Given the description of an element on the screen output the (x, y) to click on. 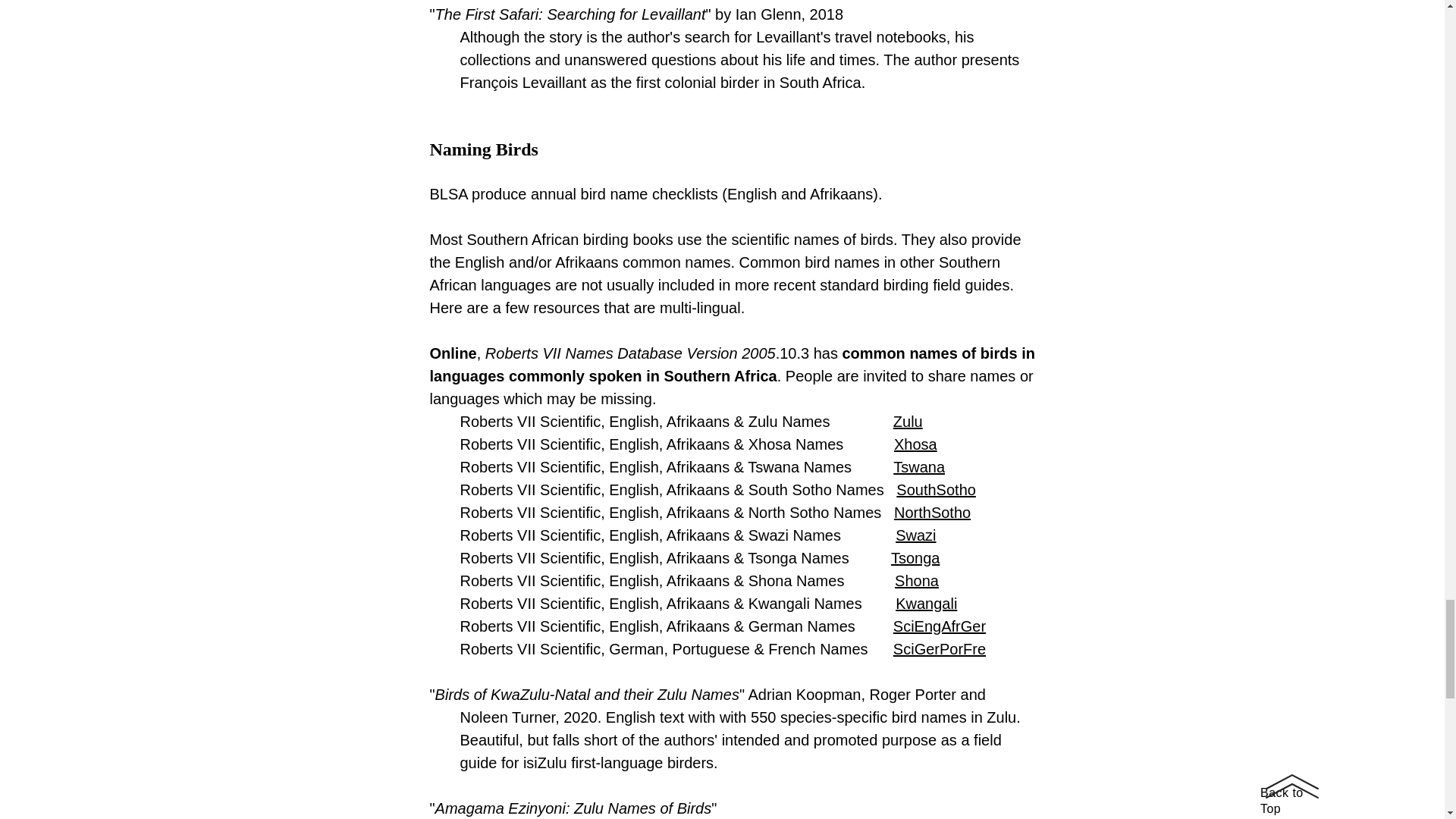
NorthSotho (932, 512)
Xhosa (915, 443)
SciGerPorFre (939, 648)
Tswana (918, 466)
Swazi (915, 535)
SciEngAfrGer (939, 626)
Shona (917, 580)
SouthSotho (935, 489)
Tsonga (915, 557)
